Given the description of an element on the screen output the (x, y) to click on. 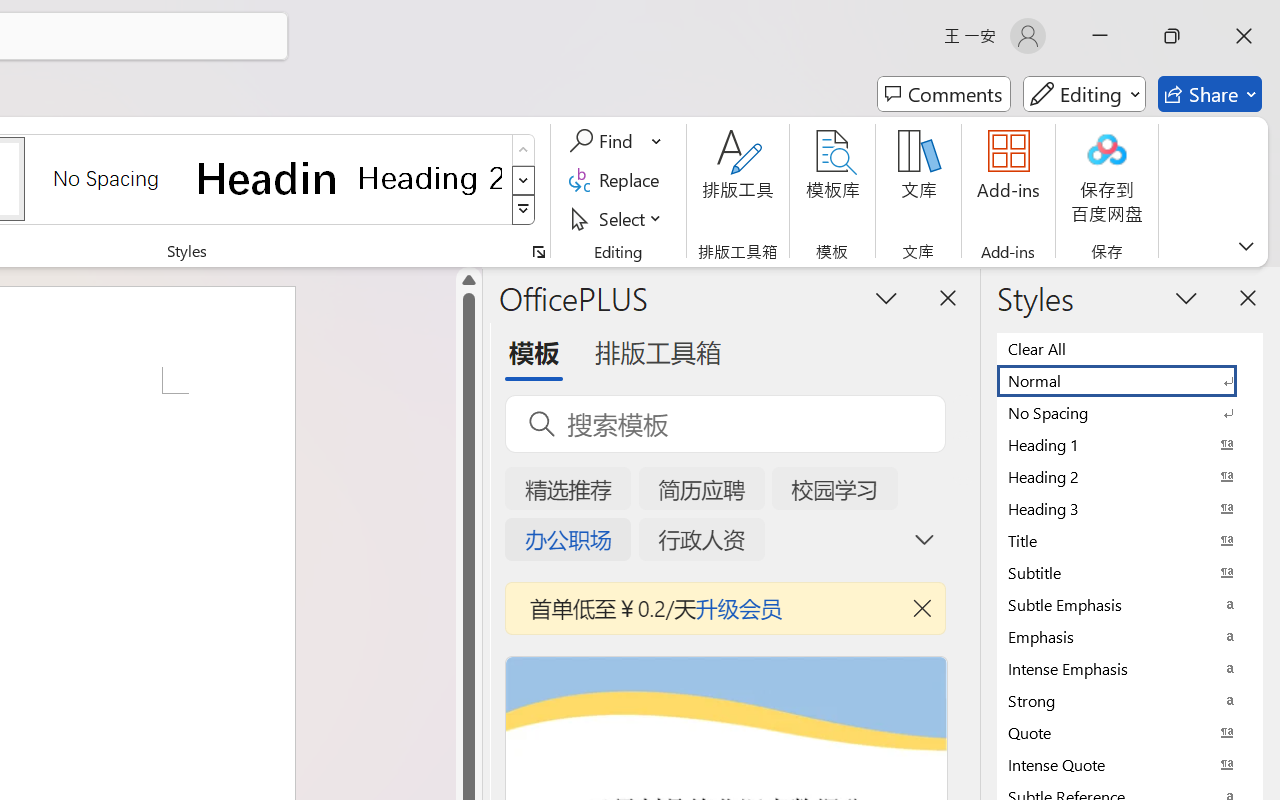
Close (1244, 36)
More Options (657, 141)
Heading 2 (429, 178)
